Given the description of an element on the screen output the (x, y) to click on. 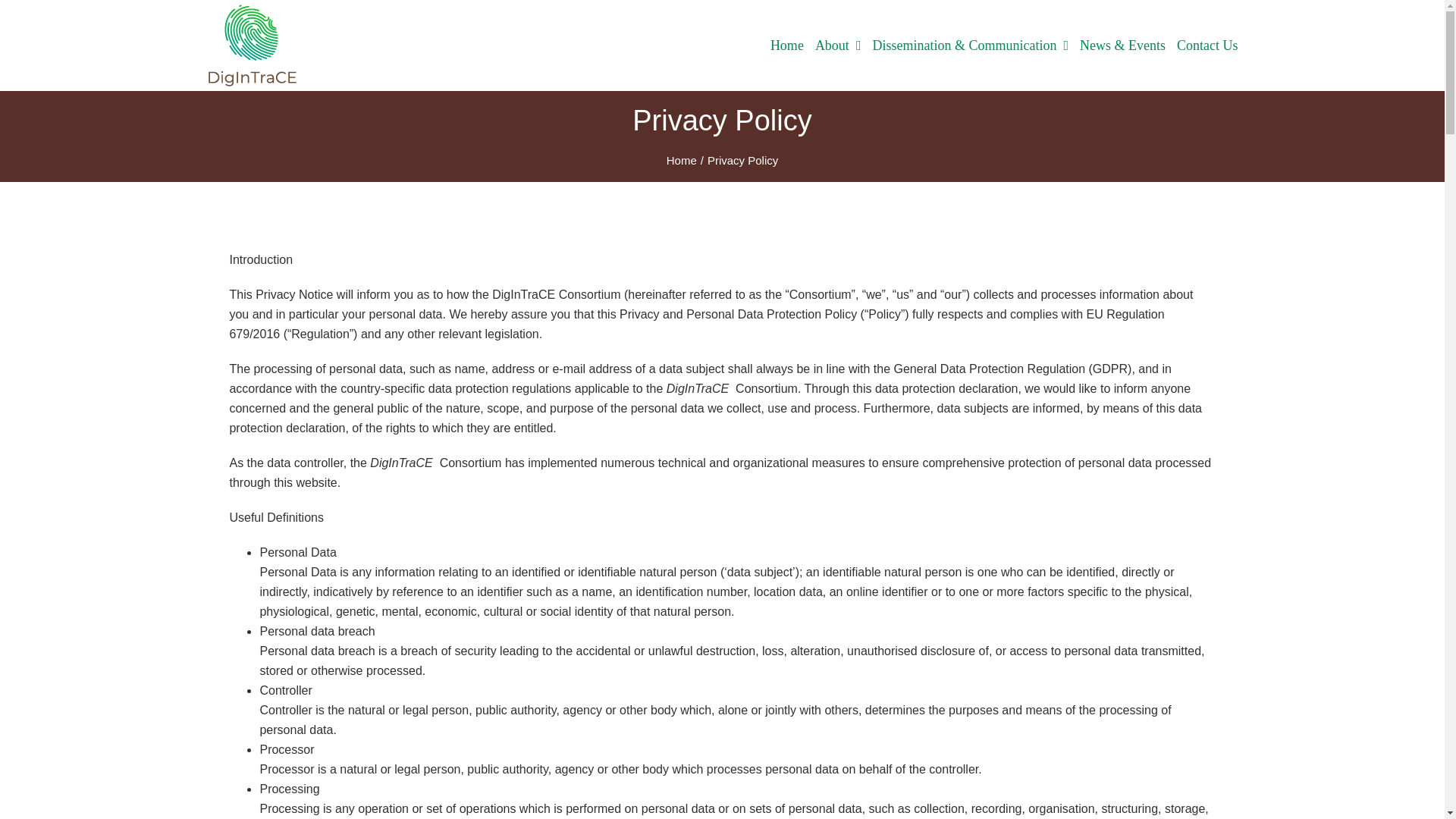
Home (786, 45)
About (838, 45)
Contact Us (1207, 45)
